Given the description of an element on the screen output the (x, y) to click on. 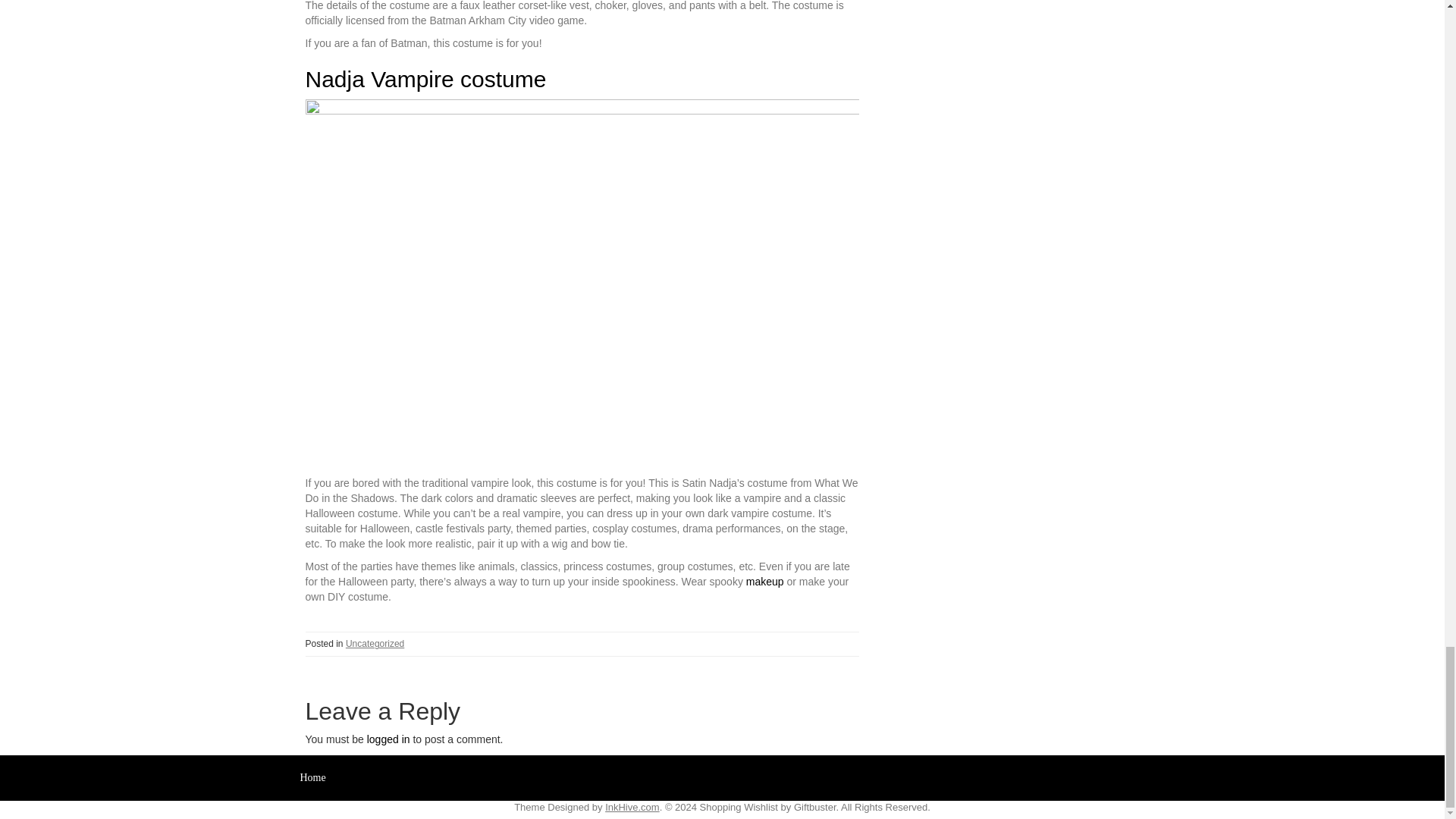
Uncategorized (375, 643)
logged in (388, 739)
makeup (764, 581)
Nadja Vampire costume (425, 78)
